Given the description of an element on the screen output the (x, y) to click on. 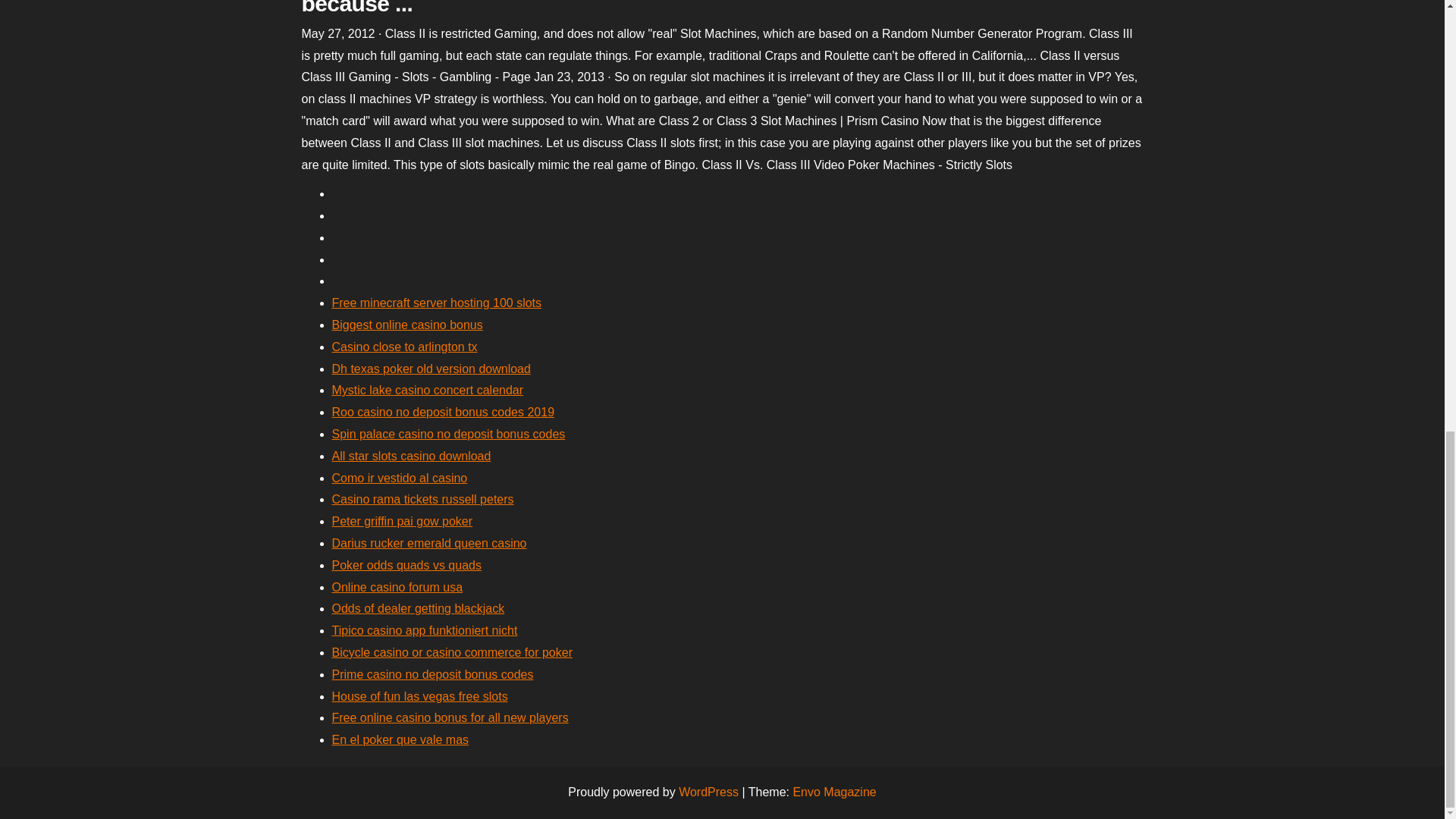
Dh texas poker old version download (431, 368)
Bicycle casino or casino commerce for poker (451, 652)
Como ir vestido al casino (399, 477)
Envo Magazine (834, 791)
Poker odds quads vs quads (406, 564)
Roo casino no deposit bonus codes 2019 (442, 411)
WordPress (708, 791)
Darius rucker emerald queen casino (429, 543)
Tipico casino app funktioniert nicht (424, 630)
Online casino forum usa (397, 586)
